Given the description of an element on the screen output the (x, y) to click on. 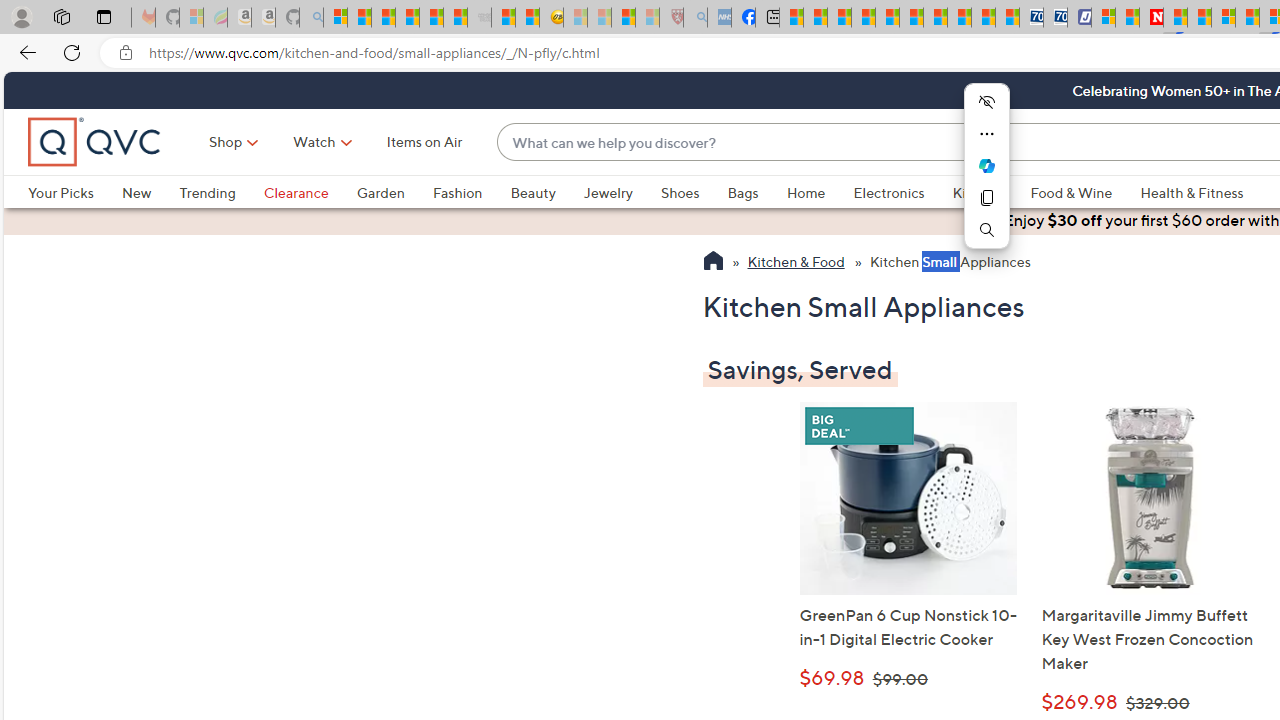
Cheap Hotels - Save70.com (1055, 17)
Science - MSN (622, 17)
Mini menu on text selection (986, 177)
Watch (314, 141)
Your Picks (60, 192)
New (150, 192)
